Given the description of an element on the screen output the (x, y) to click on. 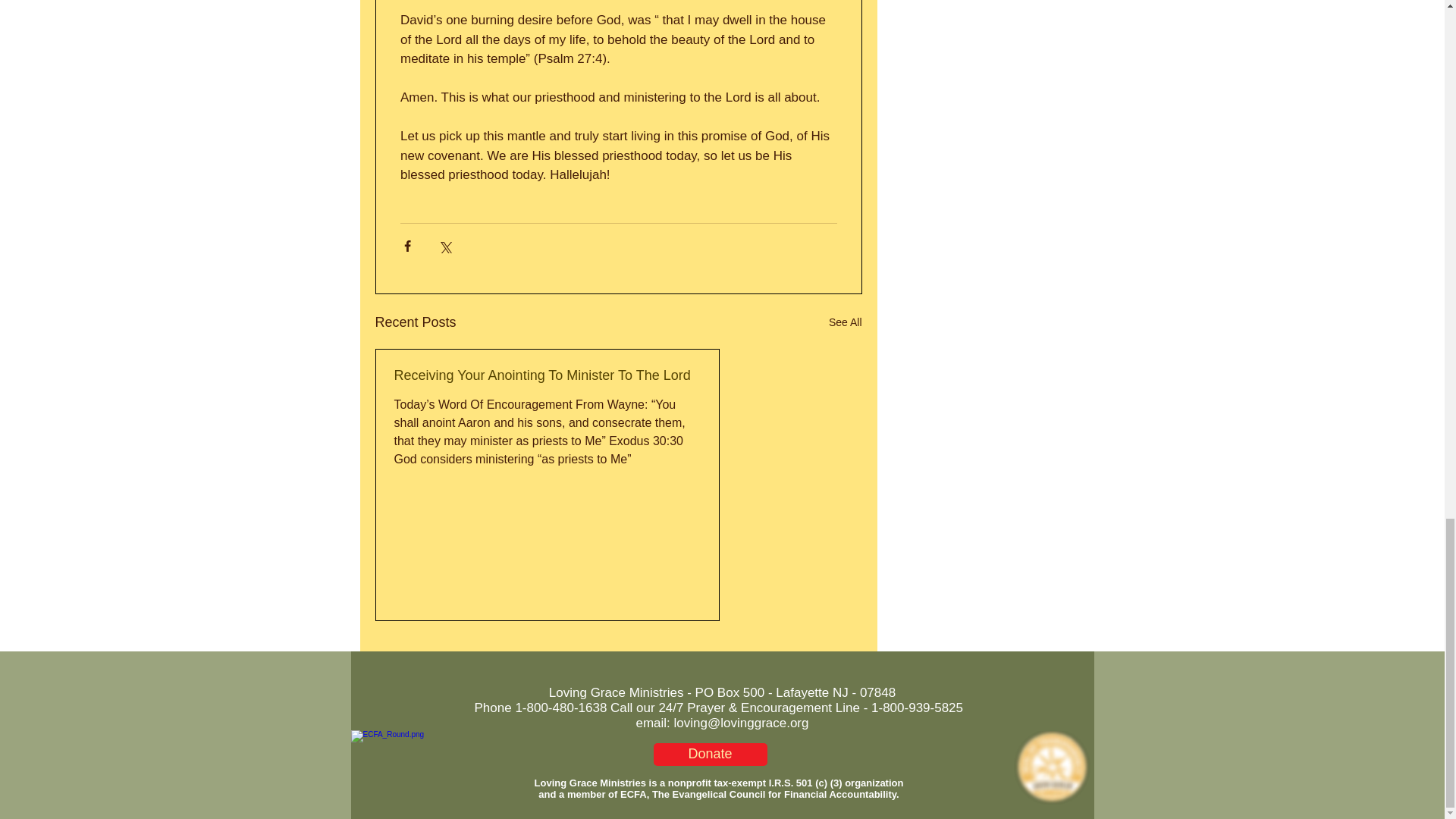
See All (844, 322)
Receiving Your Anointing To Minister To The Lord (547, 375)
